Given the description of an element on the screen output the (x, y) to click on. 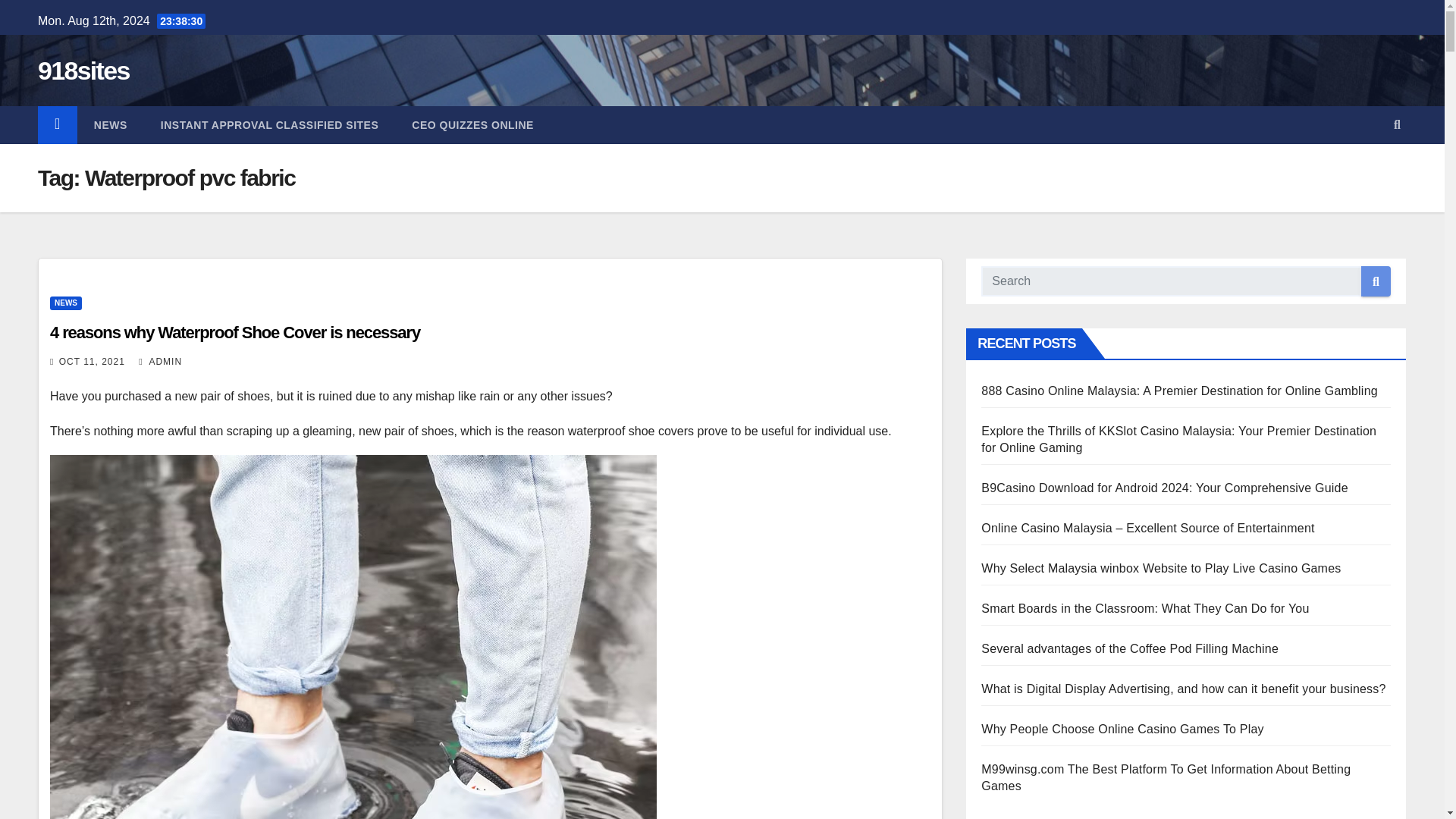
NEWS (65, 303)
Instant Approval Classified Sites (269, 125)
ADMIN (160, 361)
4 reasons why Waterproof Shoe Cover is necessary (234, 332)
CEO QUIZZES ONLINE (472, 125)
NEWS (110, 125)
CEO Quizzes Online (472, 125)
News (110, 125)
INSTANT APPROVAL CLASSIFIED SITES (269, 125)
918sites (83, 70)
